Given the description of an element on the screen output the (x, y) to click on. 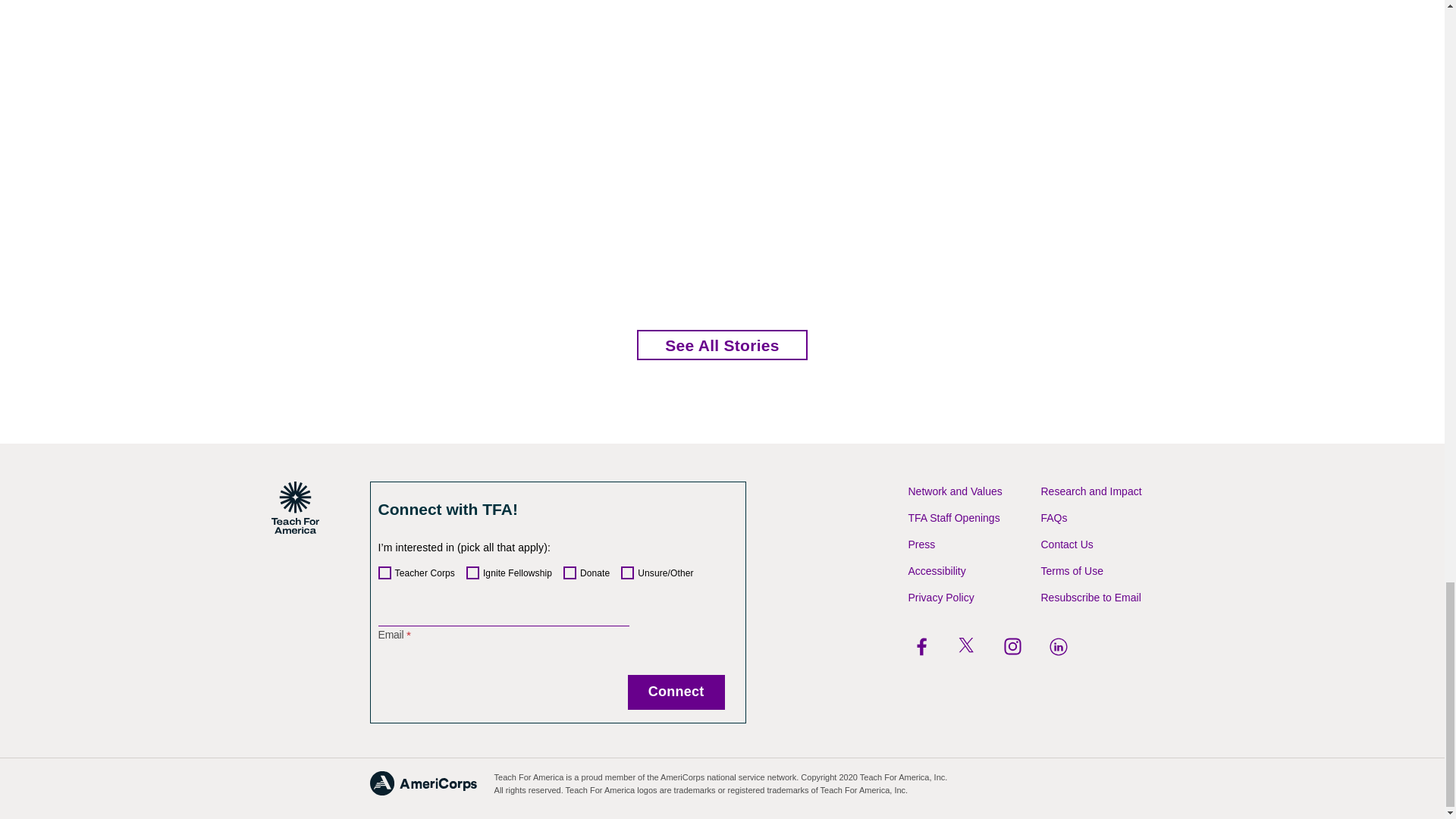
Research and Impact (1091, 491)
Network and Values (955, 491)
See All Stories (721, 345)
Connect (676, 692)
TFA Staff Openings (954, 517)
Connect (676, 692)
